Given the description of an element on the screen output the (x, y) to click on. 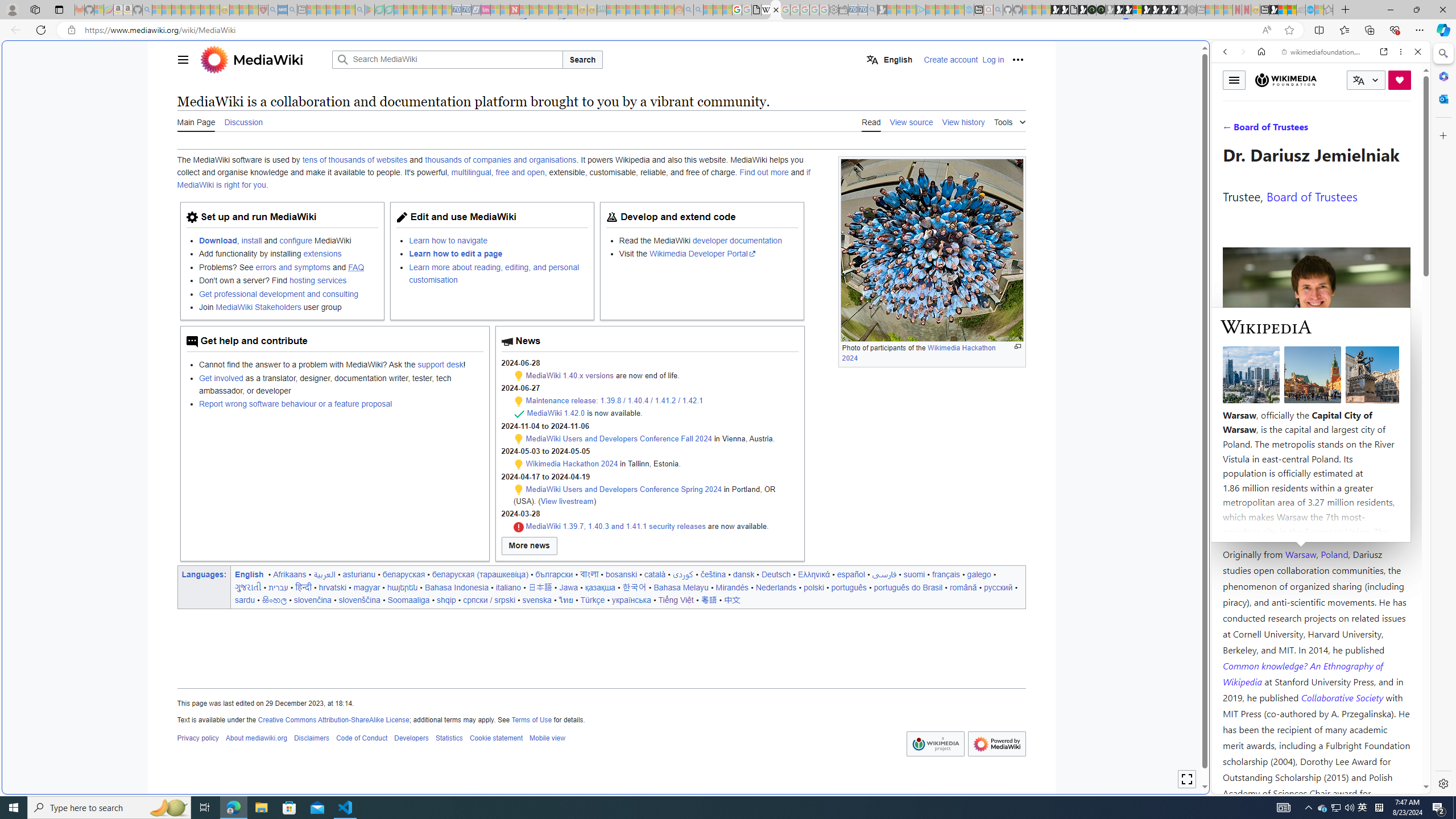
Toggle limited content width (1186, 778)
Release (518, 413)
Report wrong software behaviour or a feature proposal (340, 403)
Search MediaWiki (447, 59)
Board of Trustees (1311, 195)
View source (911, 120)
Get professional development and consulting (288, 293)
Maintenance release: 1.39.8 / 1.40.4 / 1.41.2 / 1.42.1 (614, 400)
Kozminski University (1316, 486)
